Given the description of an element on the screen output the (x, y) to click on. 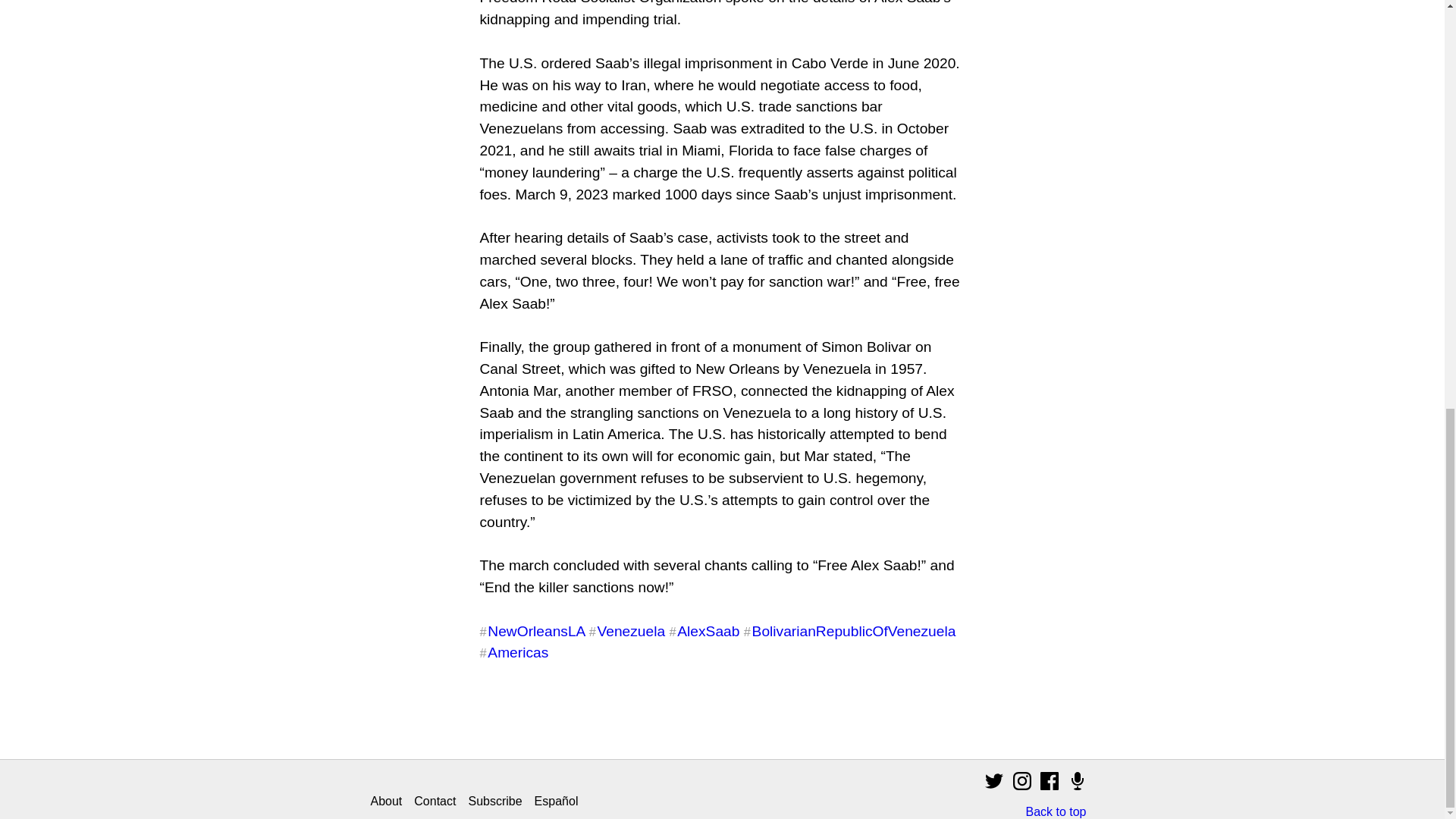
About (385, 801)
Subscribe (494, 801)
Contact (434, 801)
